Given the description of an element on the screen output the (x, y) to click on. 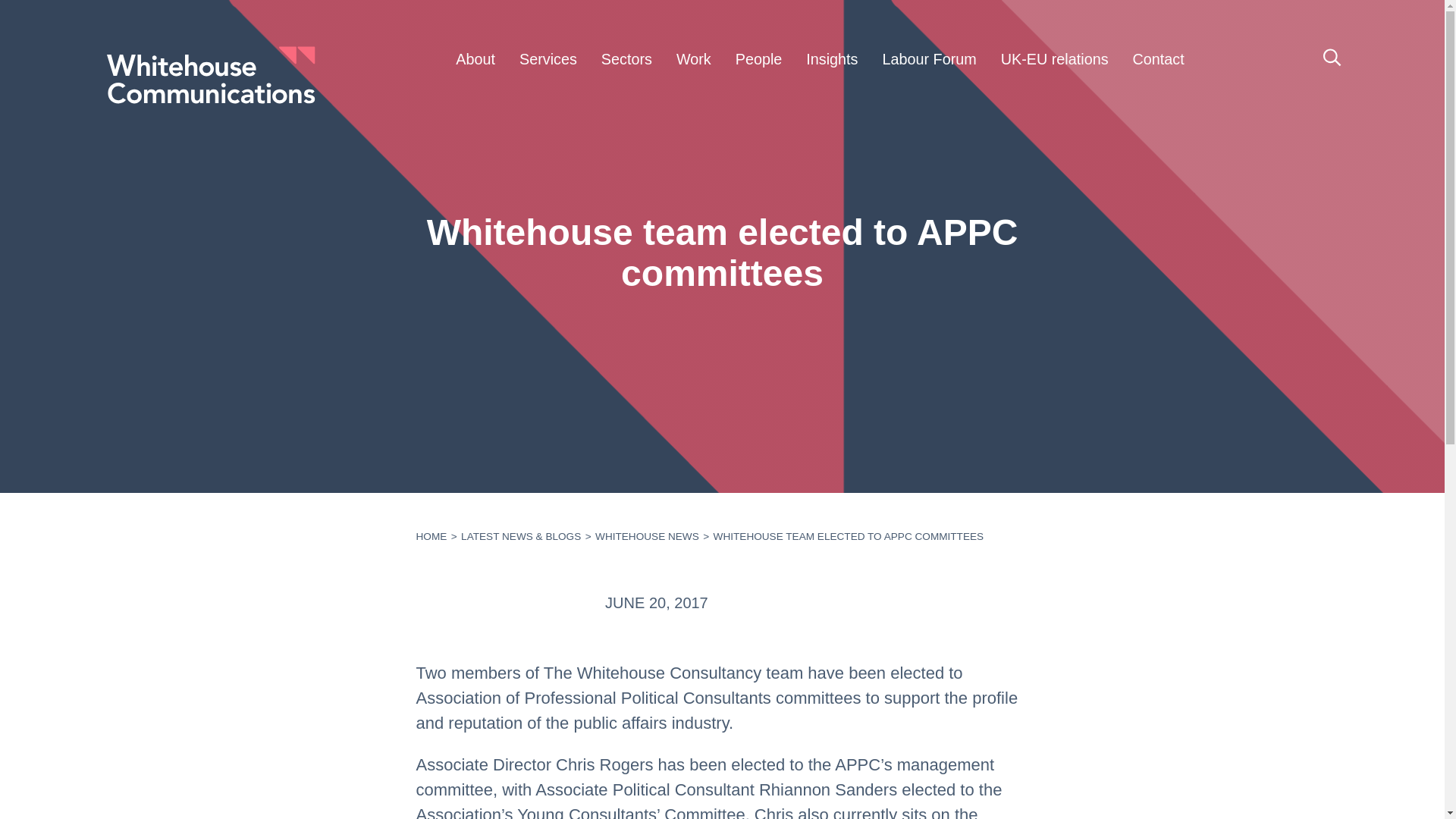
UK-EU relations (1054, 59)
Insights (831, 59)
Contact (1158, 59)
Services (547, 59)
HOME (431, 536)
Whitehouse Communications (210, 74)
Work (693, 59)
Labour Forum (928, 59)
Sectors (626, 59)
People (758, 59)
Go to Whitehouse Communications. (431, 536)
WHITEHOUSE NEWS (646, 536)
Go to the Whitehouse News category archives. (646, 536)
About (475, 59)
